Given the description of an element on the screen output the (x, y) to click on. 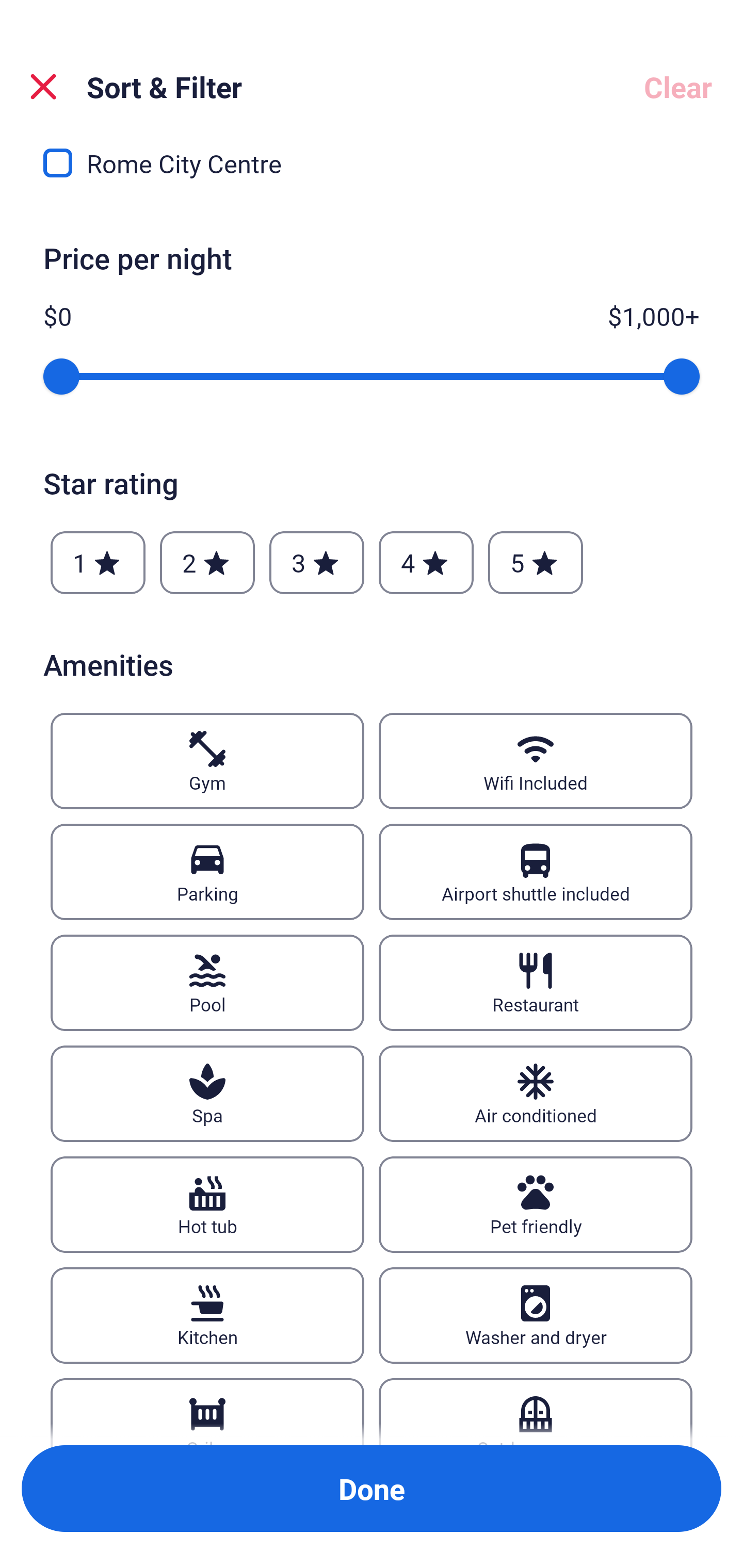
Close Sort and Filter (43, 86)
Clear (677, 86)
Rome City Centre, Rome City Centre (371, 168)
1 (97, 562)
2 (206, 562)
3 (316, 562)
4 (426, 562)
5 (535, 562)
Gym (207, 761)
Wifi Included (535, 761)
Parking (207, 871)
Airport shuttle included (535, 871)
Pool (207, 982)
Restaurant (535, 982)
Spa (207, 1093)
Air conditioned (535, 1093)
Hot tub (207, 1204)
Pet friendly (535, 1204)
Kitchen (207, 1315)
Washer and dryer (535, 1315)
Cribs (207, 1411)
Outdoor space (535, 1411)
Apply and close Sort and Filter Done (371, 1488)
